Given the description of an element on the screen output the (x, y) to click on. 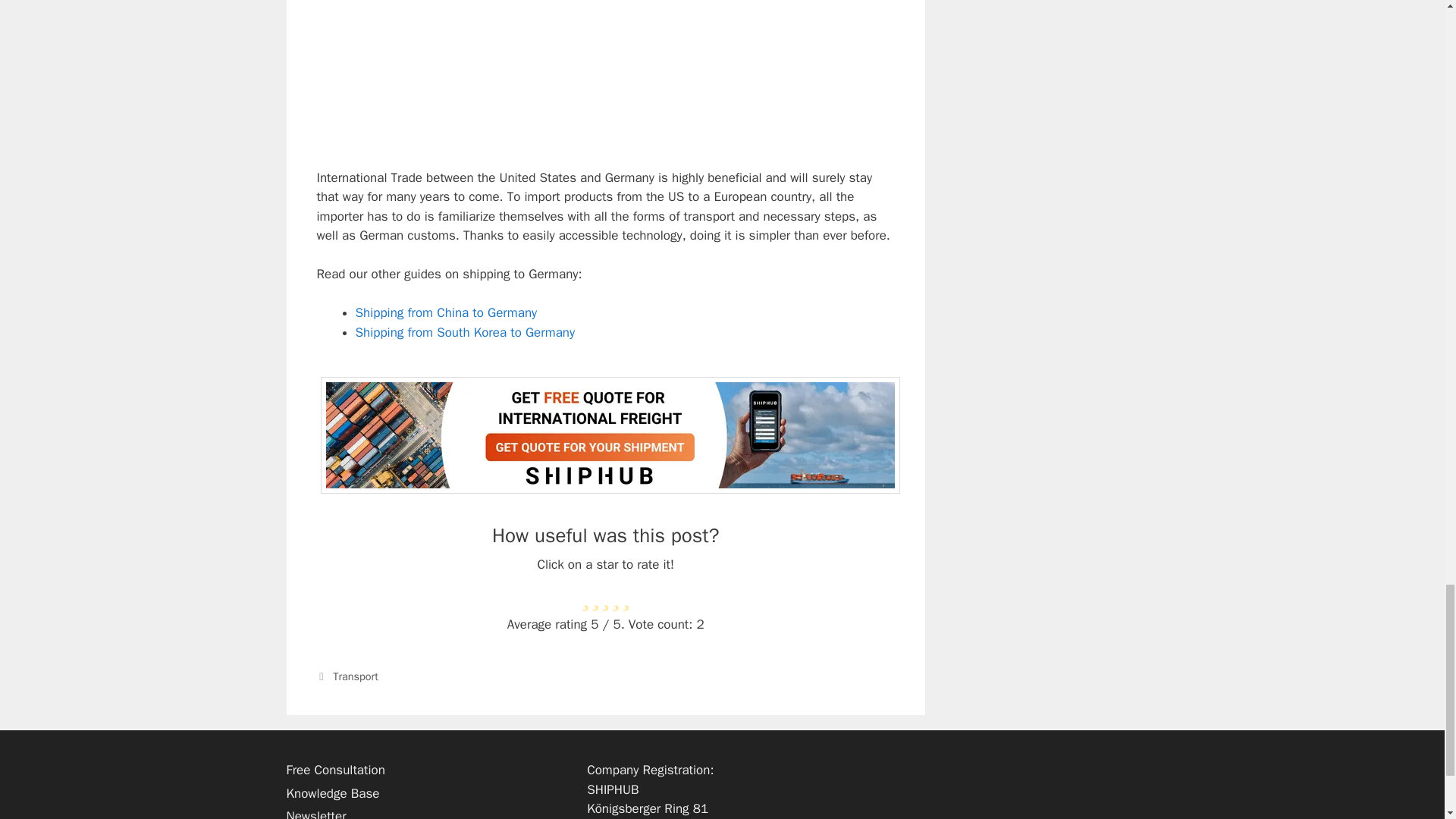
Transport (355, 676)
Shipping from South Korea to Germany (465, 332)
Shipping from China to Germany (446, 312)
